Given the description of an element on the screen output the (x, y) to click on. 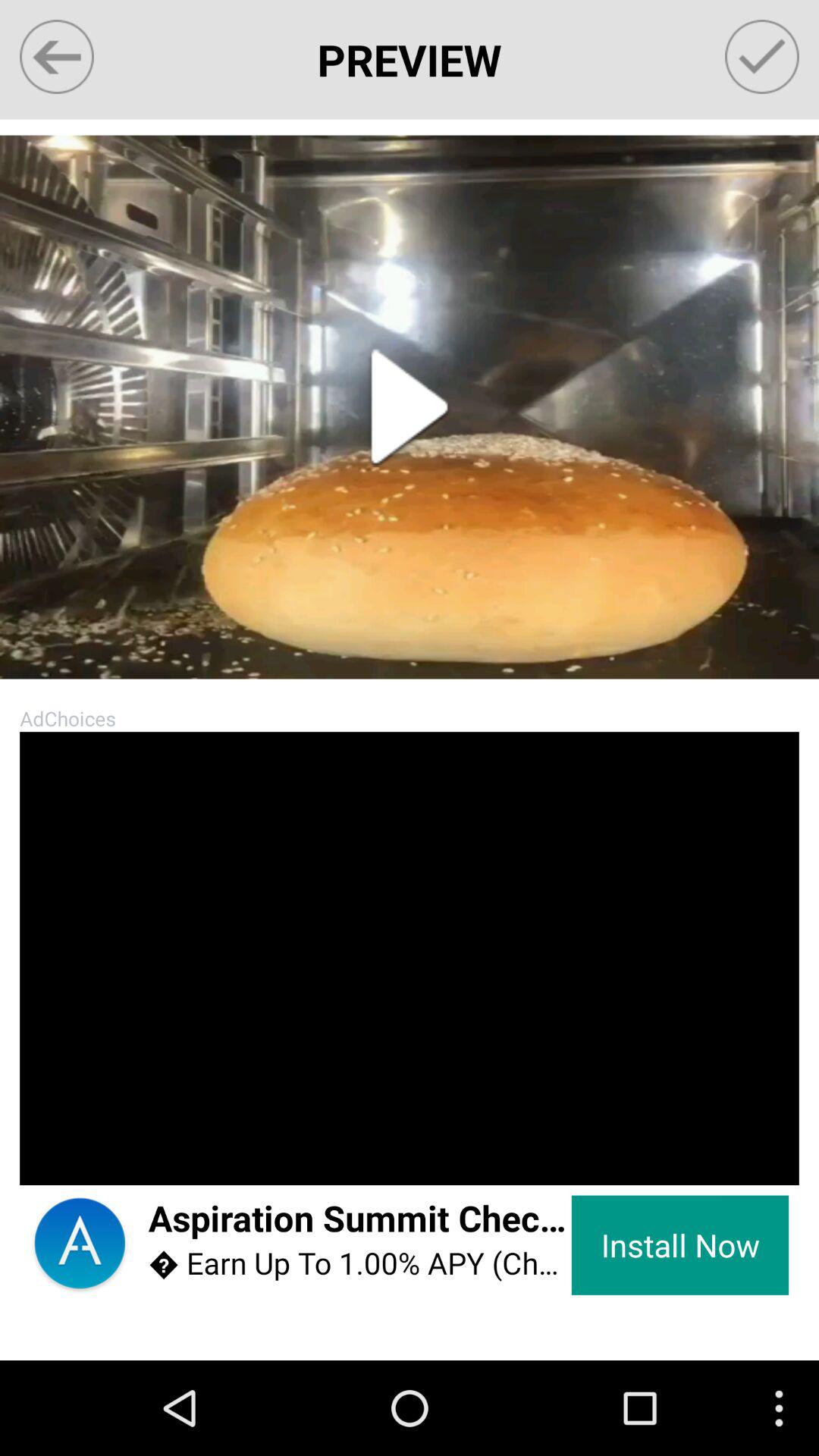
tap the item to the left of aspiration summit checking app (47, 1156)
